Given the description of an element on the screen output the (x, y) to click on. 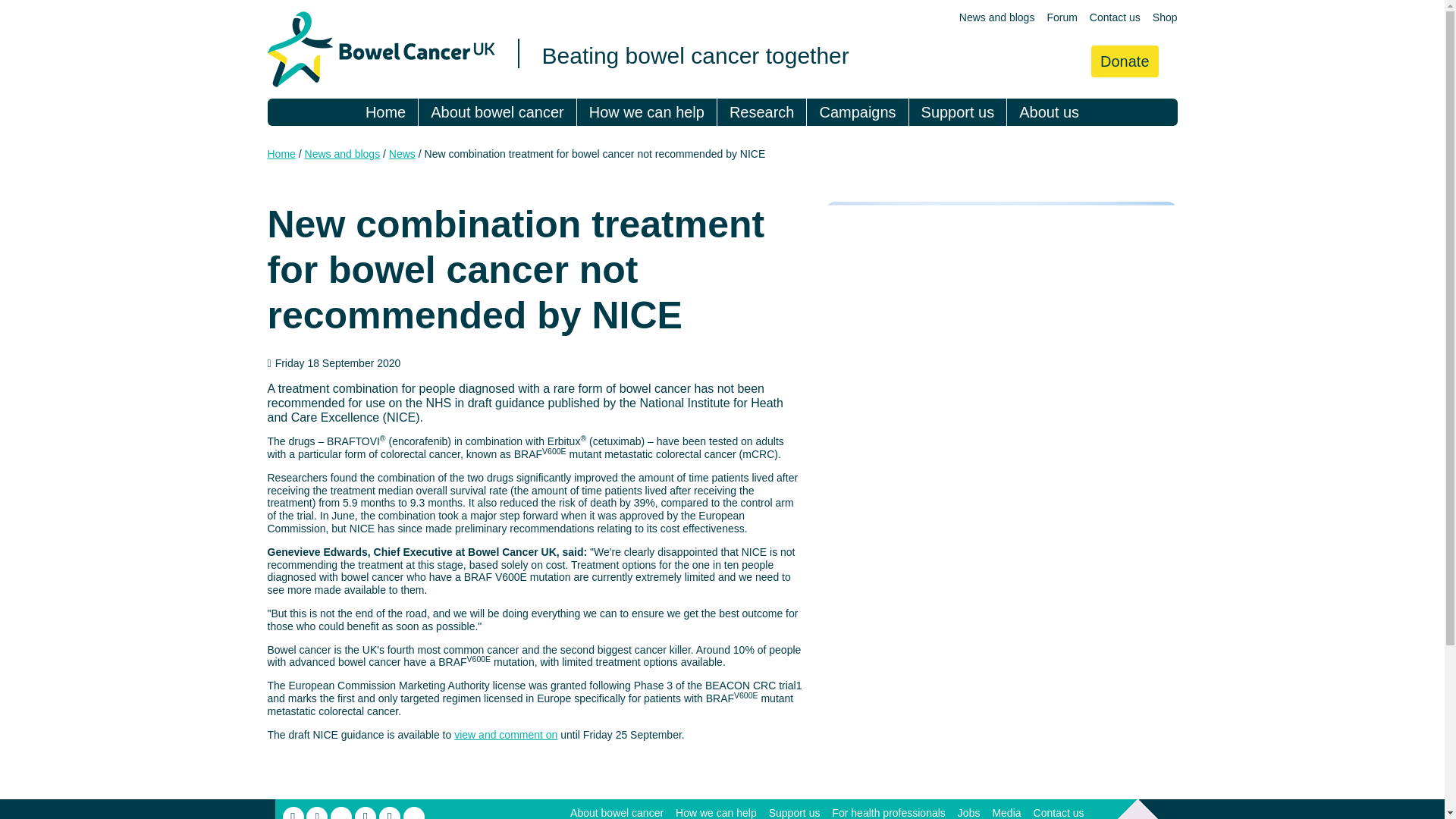
View your basket (1062, 60)
